Given the description of an element on the screen output the (x, y) to click on. 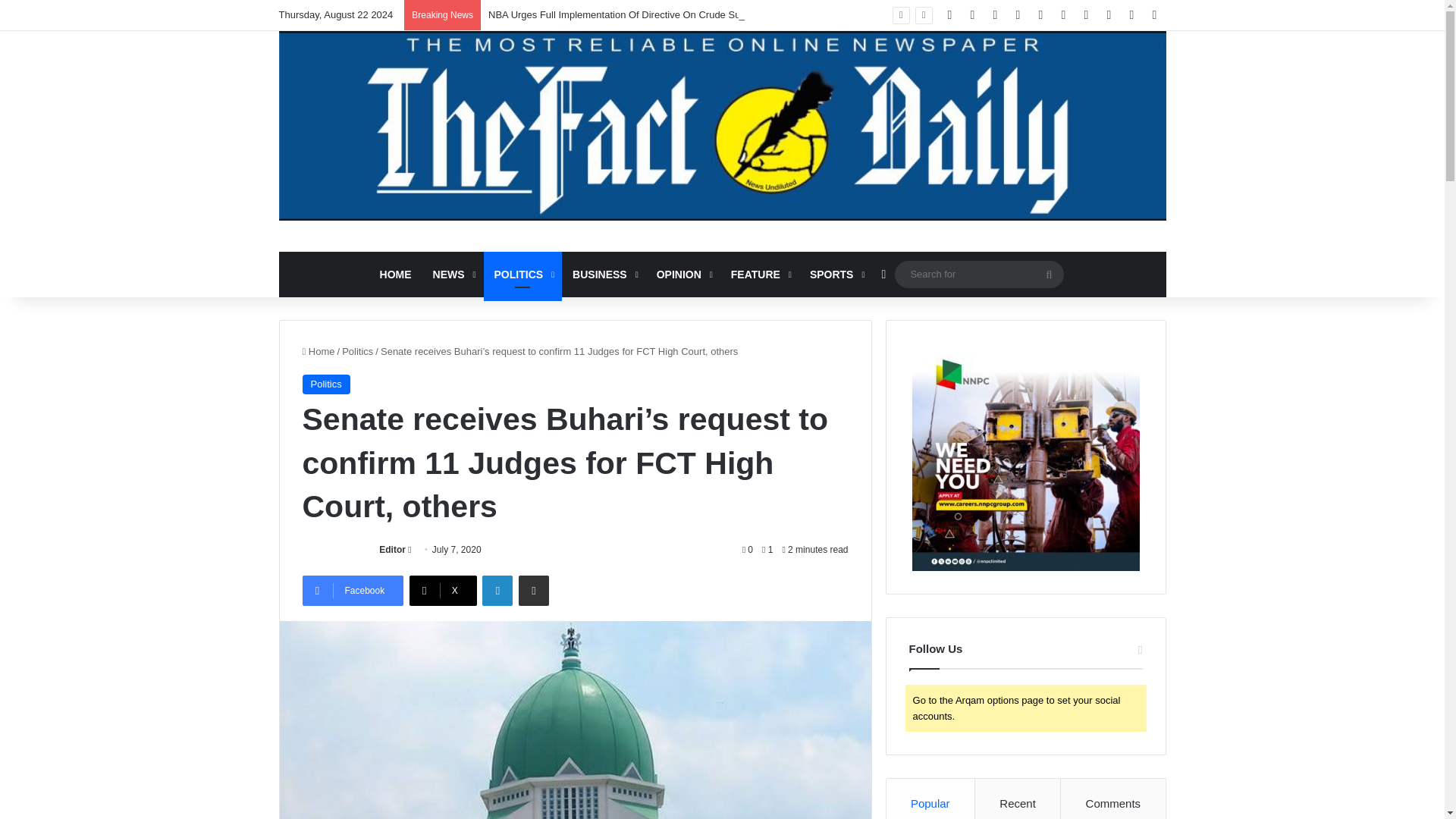
Share via Email (533, 590)
HOME (395, 274)
POLITICS (522, 274)
Search for (979, 273)
NEWS (452, 274)
BUSINESS (604, 274)
LinkedIn (496, 590)
X (443, 590)
